Given the description of an element on the screen output the (x, y) to click on. 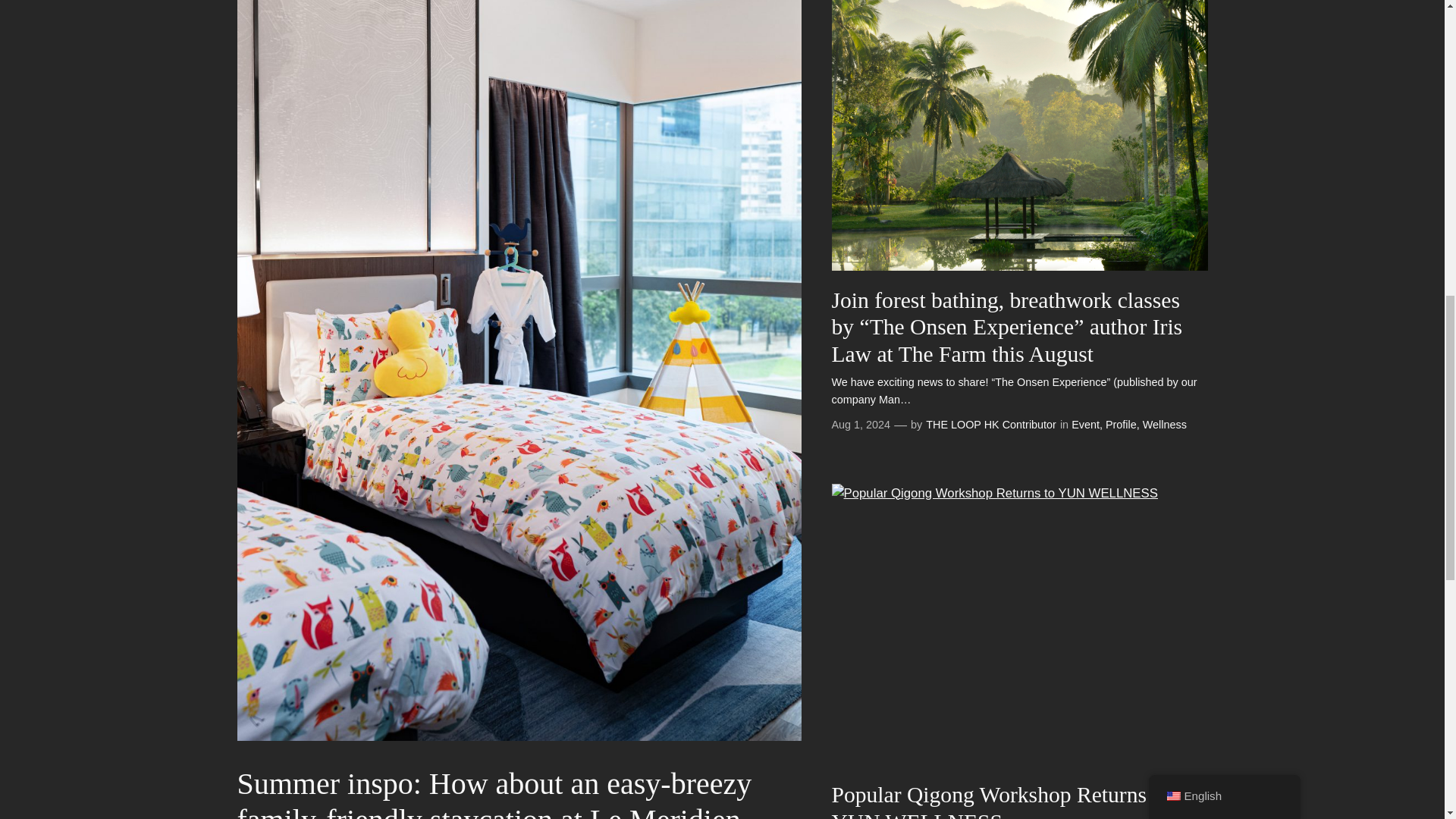
Event (1085, 424)
Profile (1121, 424)
THE LOOP HK Contributor (991, 424)
Wellness (1164, 424)
Popular Qigong Workshop Returns to YUN WELLNESS (1019, 800)
Aug 1, 2024 (860, 424)
